Given the description of an element on the screen output the (x, y) to click on. 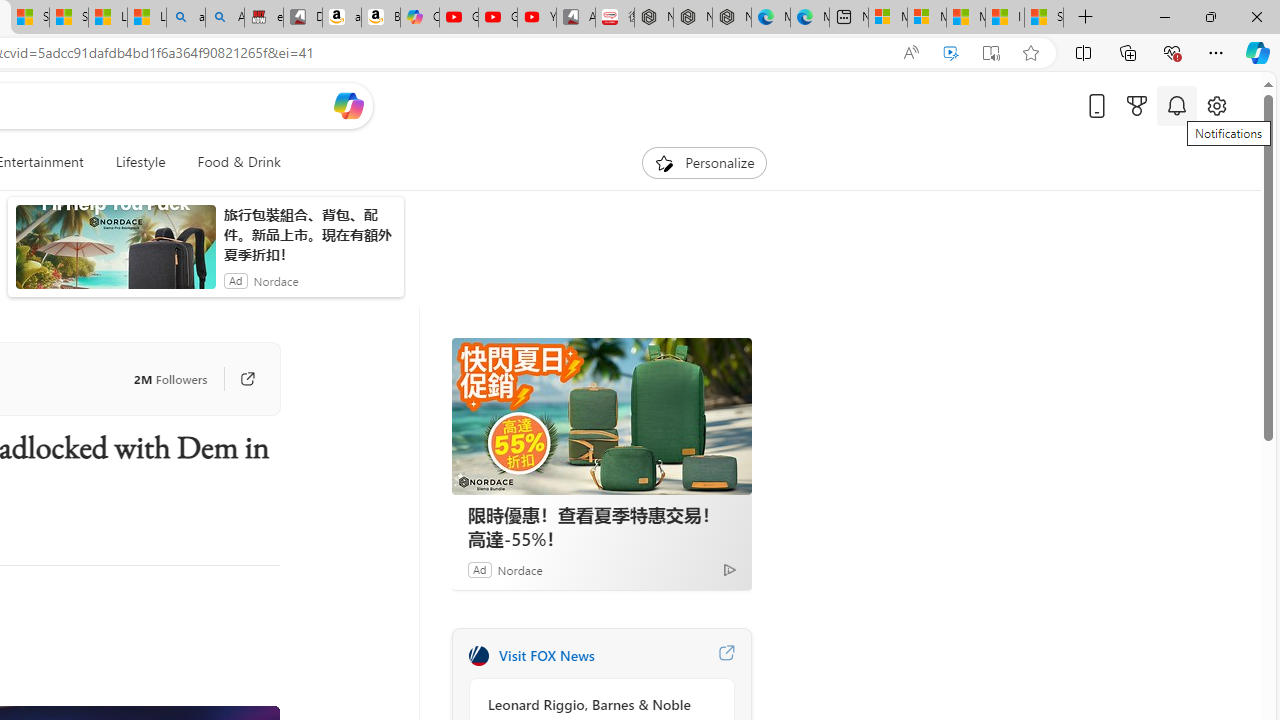
I Gained 20 Pounds of Muscle in 30 Days! | Watch (1004, 17)
Nordace Comino Totepack (653, 17)
To get missing image descriptions, open the context menu. (664, 162)
Ad (479, 569)
All Cubot phones (575, 17)
FOX News (478, 655)
Visit FOX News website (726, 655)
Enter Immersive Reader (F9) (991, 53)
